Given the description of an element on the screen output the (x, y) to click on. 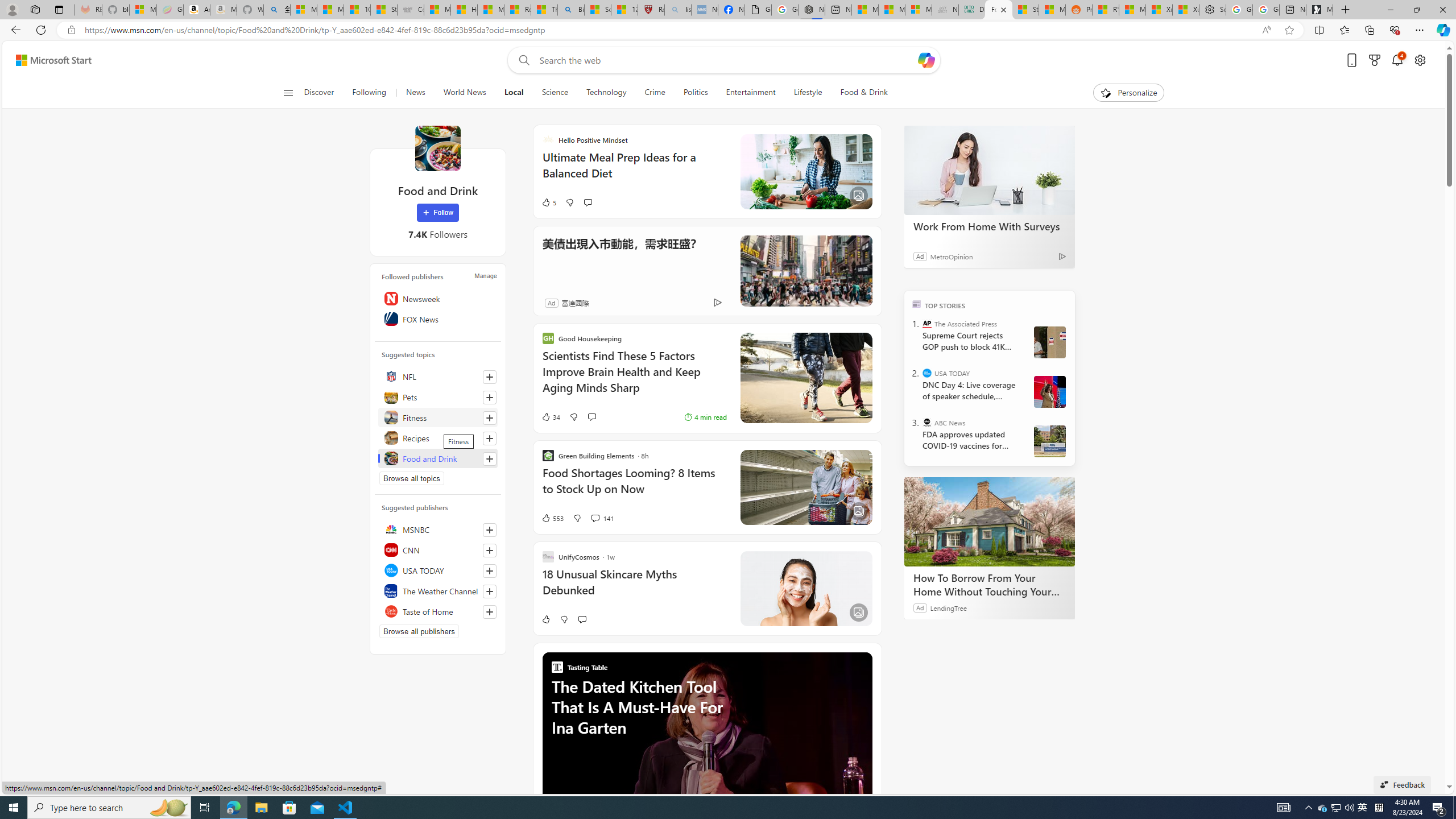
Food and Drink (437, 148)
Local (513, 92)
Pets (437, 397)
Personalize (1128, 92)
Follow this topic (489, 459)
NFL (437, 376)
Science (554, 92)
Follow (437, 212)
